Given the description of an element on the screen output the (x, y) to click on. 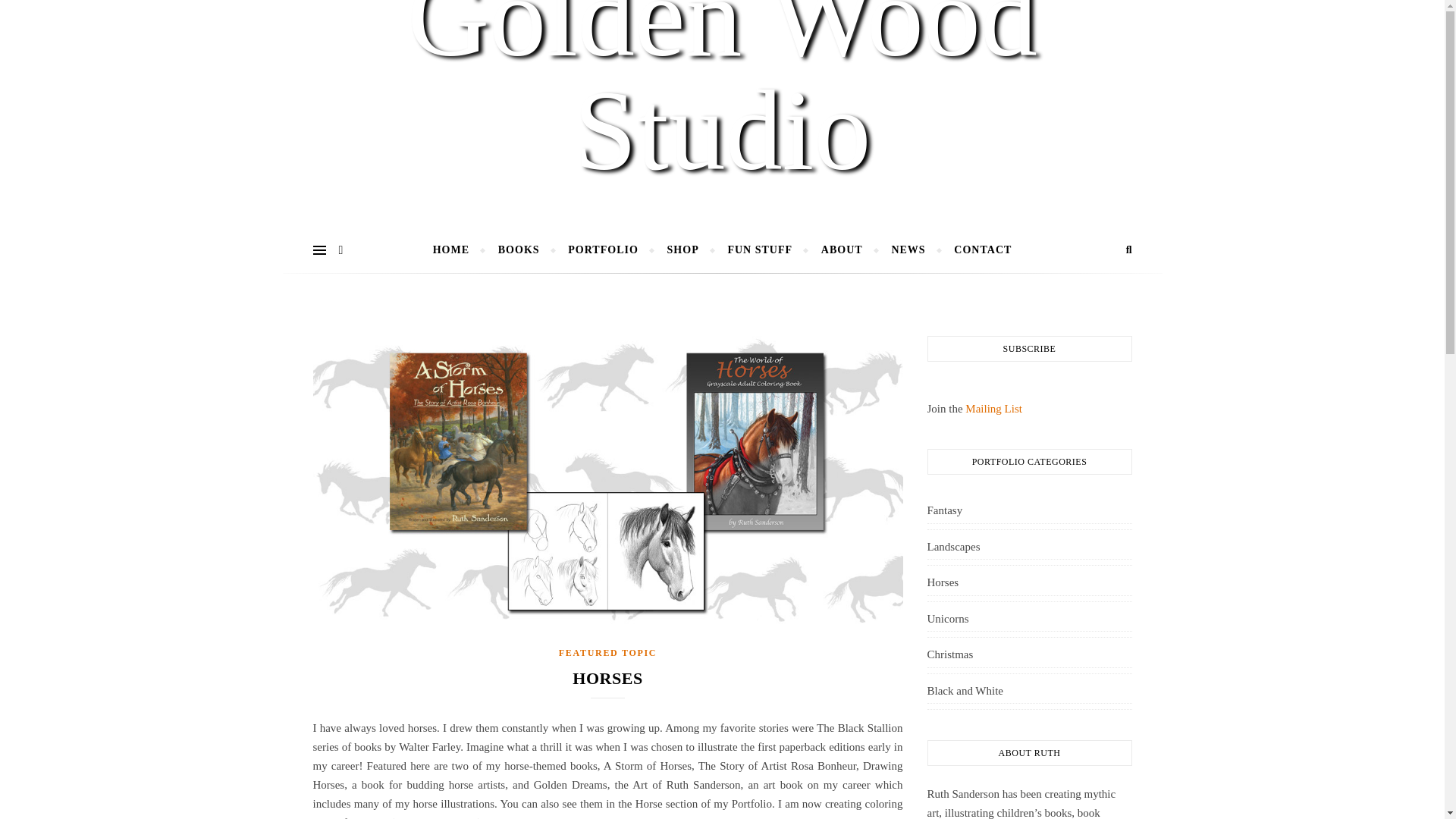
ABOUT (842, 249)
FUN STUFF (759, 249)
CONTACT (975, 249)
BOOKS (518, 249)
PORTFOLIO (602, 249)
HOME (456, 249)
NEWS (907, 249)
SHOP (682, 249)
